Given the description of an element on the screen output the (x, y) to click on. 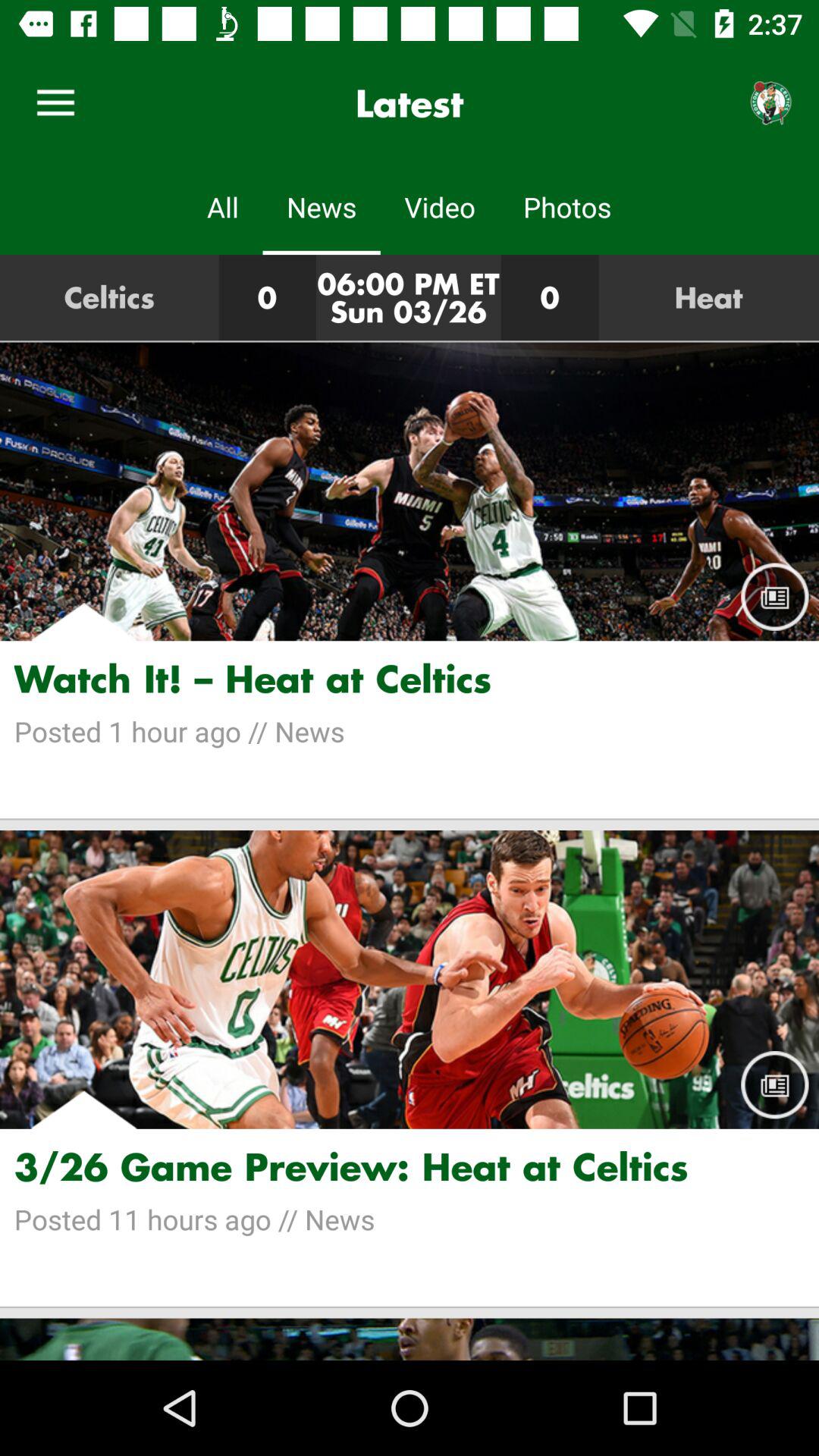
flip to the posted 11 hours icon (409, 1219)
